Given the description of an element on the screen output the (x, y) to click on. 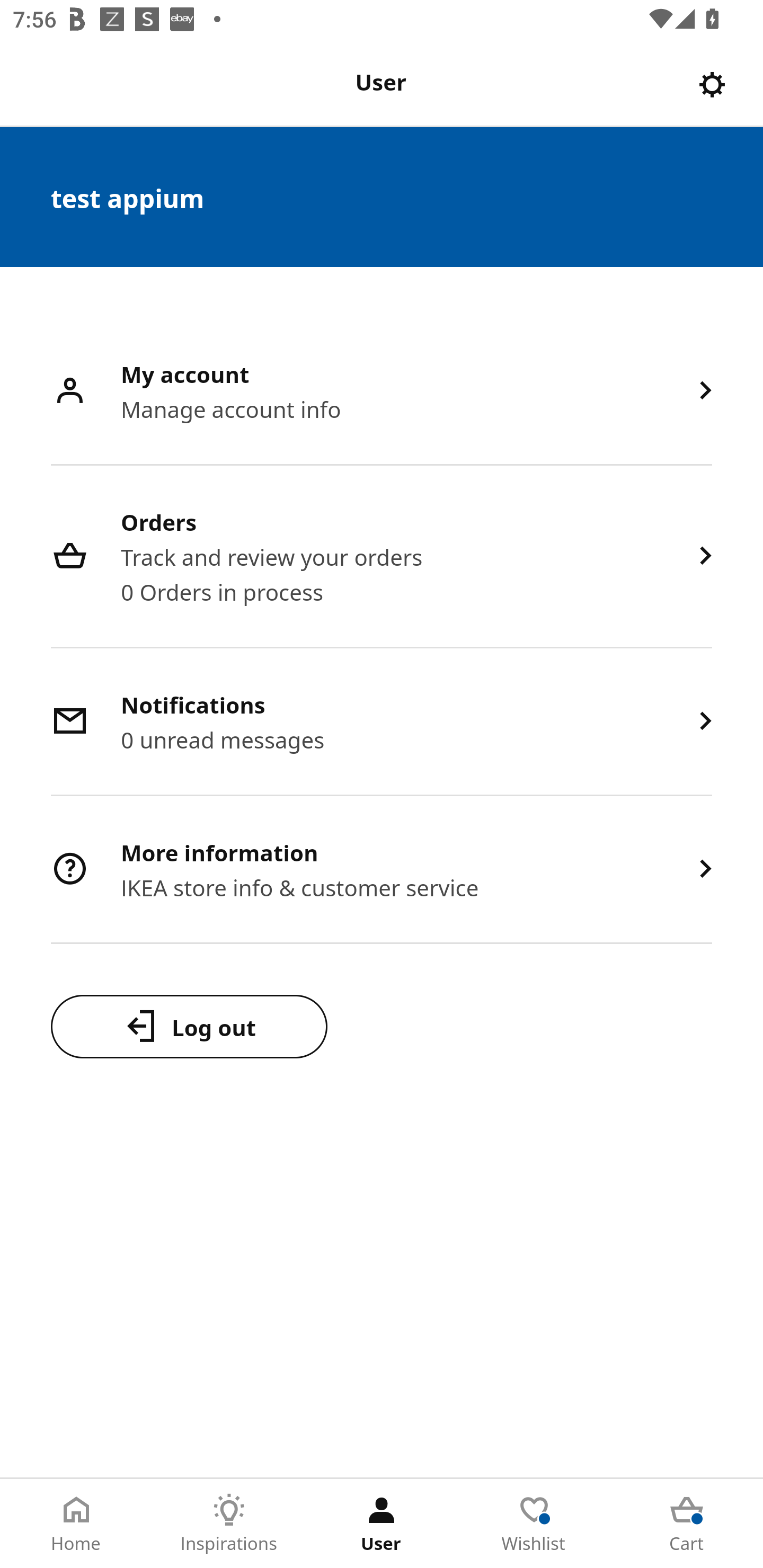
My account
Manage account info (381, 391)
Notifications
0 unread messages (381, 722)
Log out (189, 1026)
Home
Tab 1 of 5 (76, 1522)
Inspirations
Tab 2 of 5 (228, 1522)
User
Tab 3 of 5 (381, 1522)
Wishlist
Tab 4 of 5 (533, 1522)
Cart
Tab 5 of 5 (686, 1522)
